Given the description of an element on the screen output the (x, y) to click on. 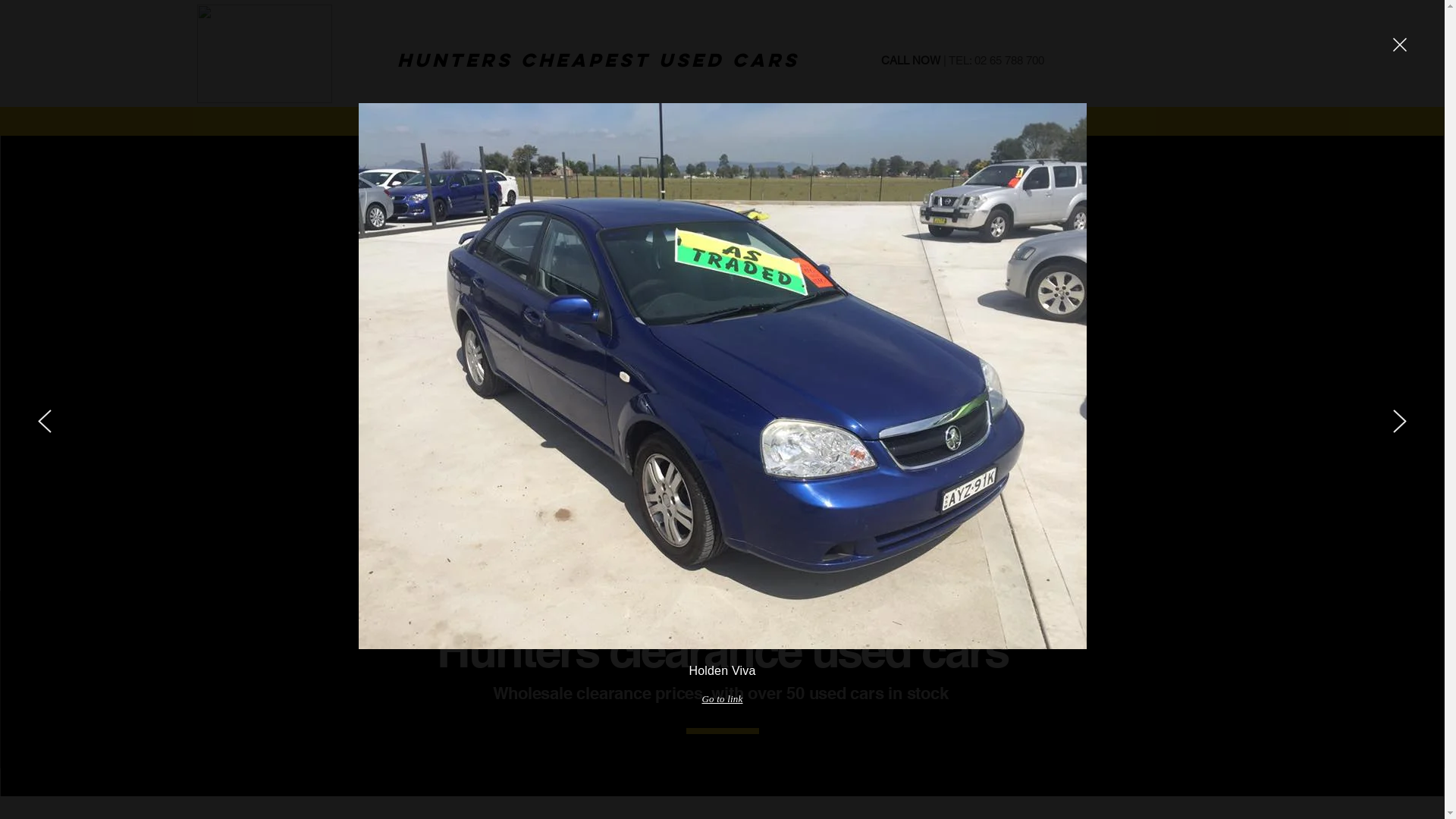
Go to link Element type: text (721, 699)
HOME Element type: text (425, 122)
FINANCING Element type: text (871, 122)
PRE-OWNED Element type: text (723, 122)
Hunters Cheapest Used Cars Element type: text (598, 59)
ABOUT US Element type: text (574, 122)
CONTACT Element type: text (1020, 122)
